Given the description of an element on the screen output the (x, y) to click on. 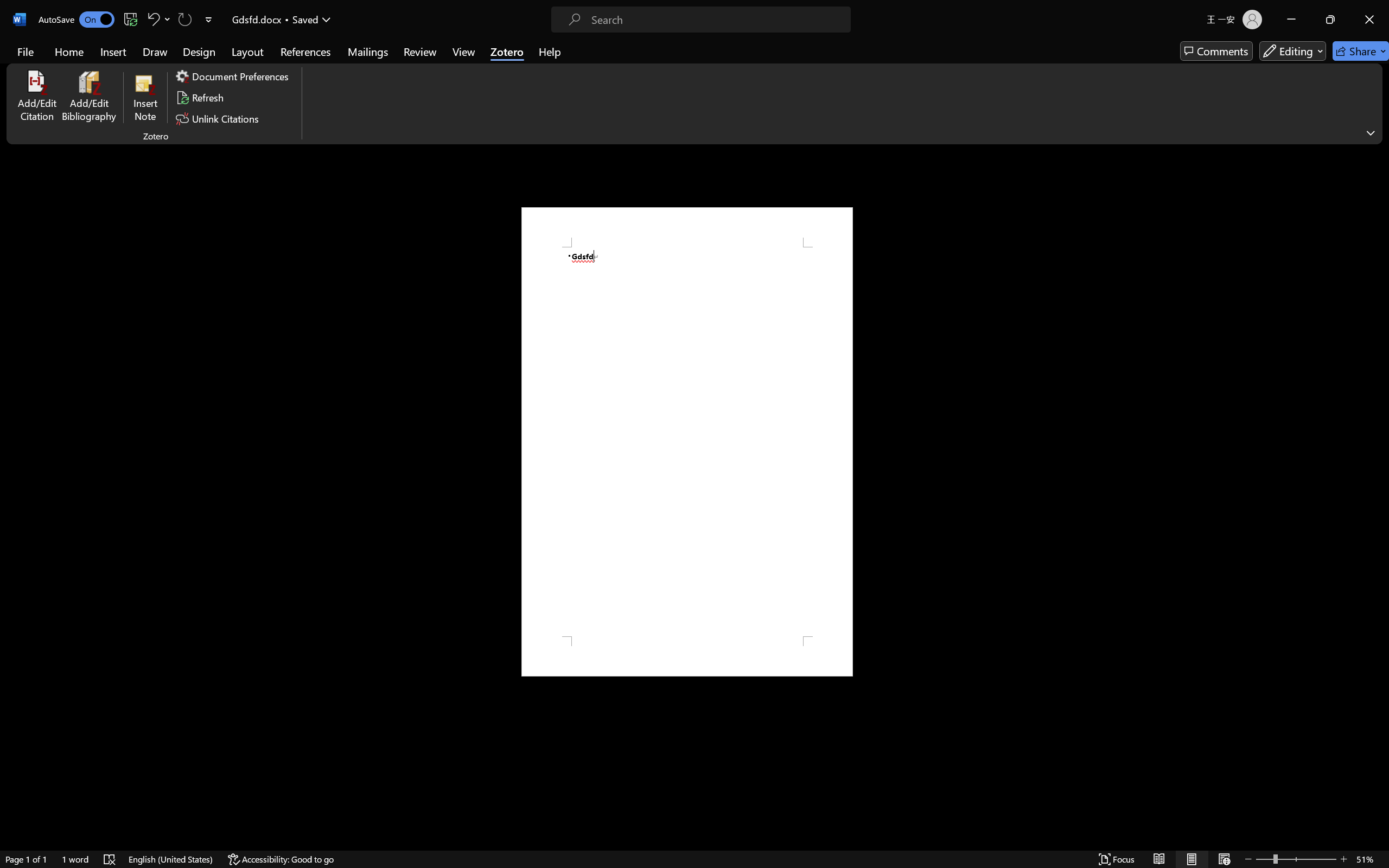
Page 1 content (686, 441)
